Given the description of an element on the screen output the (x, y) to click on. 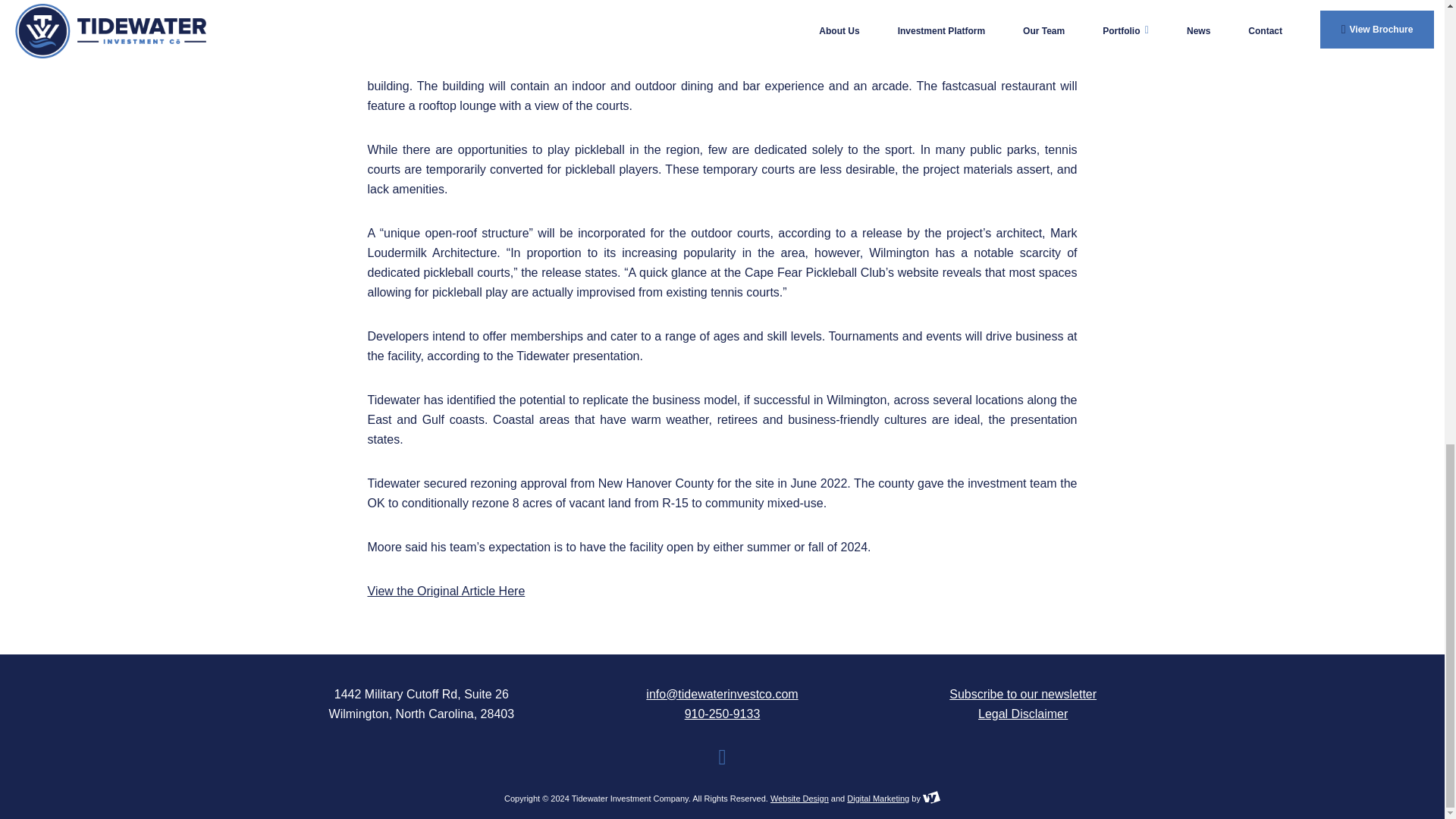
Subscribe to our newsletter (1022, 694)
Website Design (799, 798)
Legal Disclaimer (1022, 713)
View the Original Article Here (445, 590)
Legal Disclaimer (1022, 713)
Digital Marketing (877, 798)
Subscribe to our newsletter (1022, 694)
910-250-9133 (722, 713)
We're a Digital Marketing and Web Design Agency (931, 798)
Websites built for business (799, 798)
